Given the description of an element on the screen output the (x, y) to click on. 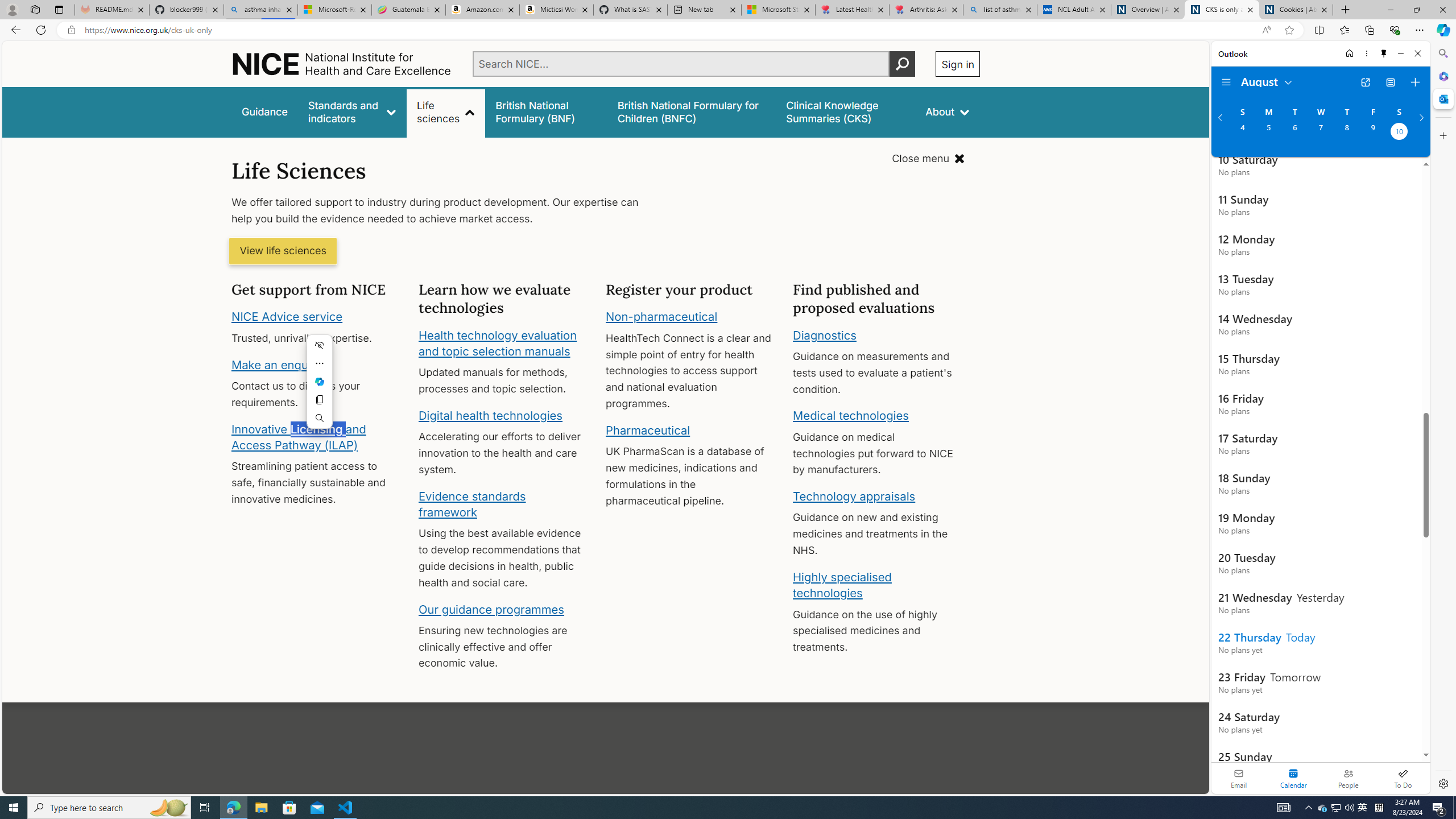
Email (1238, 777)
Unpin side pane (1383, 53)
People (1347, 777)
Arthritis: Ask Health Professionals (925, 9)
Medical technologies (850, 415)
